Given the description of an element on the screen output the (x, y) to click on. 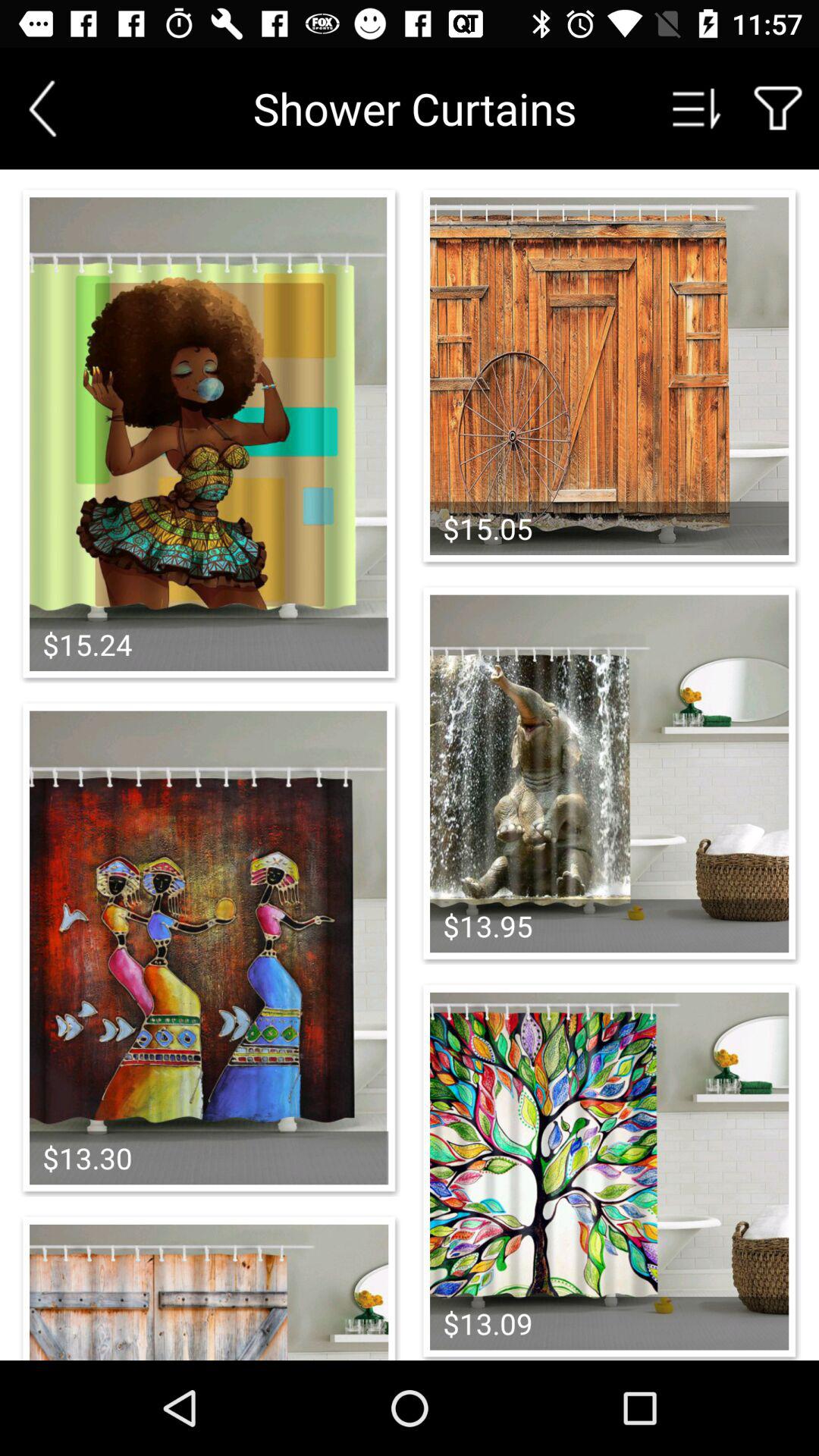
go back (42, 108)
